Given the description of an element on the screen output the (x, y) to click on. 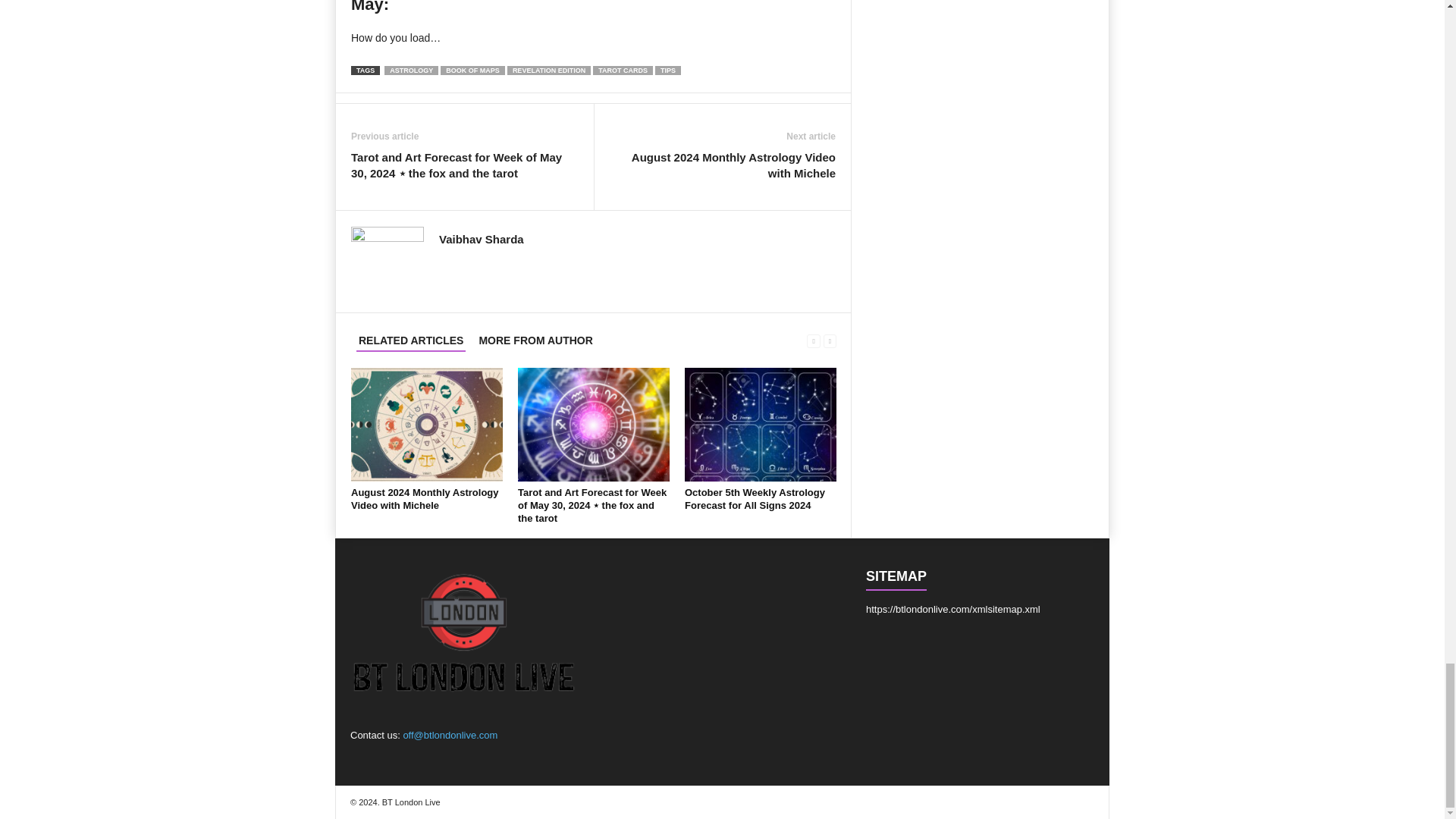
October 5th Weekly Astrology Forecast for All Signs 2024 (759, 424)
October 5th Weekly Astrology Forecast for All Signs 2024 (754, 498)
August 2024 Monthly Astrology Video with Michele (424, 498)
August 2024 Monthly Astrology Video with Michele (426, 424)
